Given the description of an element on the screen output the (x, y) to click on. 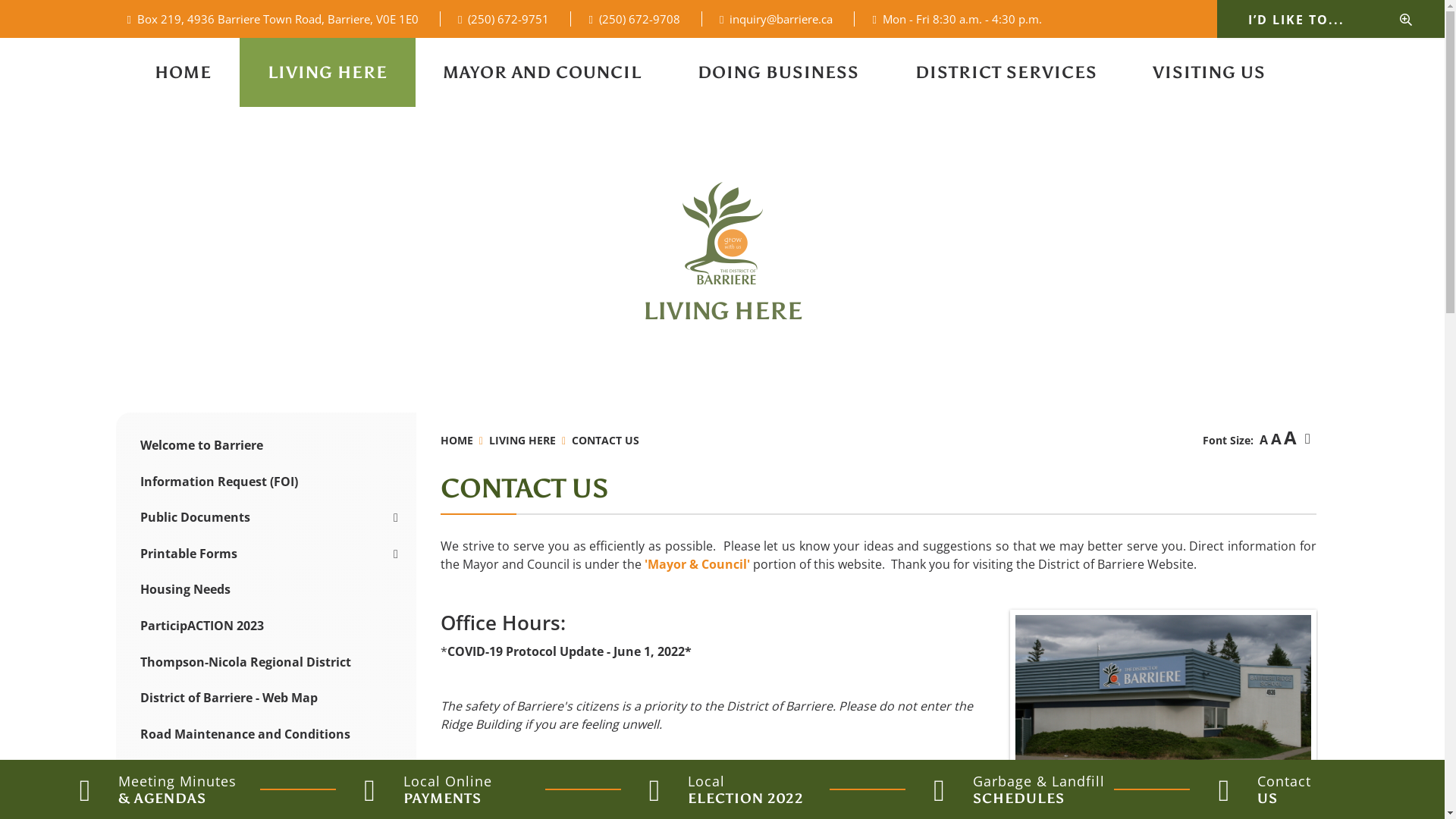
Information Request (FOI) Element type: text (265, 481)
DISTRICT SERVICES Element type: text (1006, 71)
(250) 672-9751 Element type: text (503, 18)
District of Barriere - Web Map Element type: text (265, 697)
HOME Element type: text (464, 440)
VISITING US Element type: text (1208, 71)
inquiry@barriere.ca Element type: text (775, 18)
Welcome to District of Barriere Element type: hover (721, 233)
Housing Needs Element type: text (265, 589)
Public Documents Element type: text (265, 516)
Print this content Element type: hover (1307, 438)
LIVING HERE Element type: text (327, 71)
Printable Forms Element type: text (265, 553)
Mon - Fri 8:30 a.m. - 4:30 p.m. Element type: text (956, 18)
CONTACT US Element type: text (605, 440)
DOING BUSINESS Element type: text (778, 71)
LIVING HERE Element type: text (530, 440)
Thompson-Nicola Regional District Element type: text (265, 661)
Road Maintenance and Conditions Element type: text (265, 733)
(250) 672-9708 Element type: text (633, 18)
BC Hydro Element type: text (265, 770)
Box 219, 4936 Barriere Town Road, Barriere, V0E 1E0 Element type: text (281, 18)
'Mayor & Council' Element type: text (696, 563)
HOME Element type: text (183, 71)
MAYOR AND COUNCIL Element type: text (542, 71)
Welcome to Barriere Element type: text (265, 444)
ParticipACTION 2023 Element type: text (265, 625)
